Given the description of an element on the screen output the (x, y) to click on. 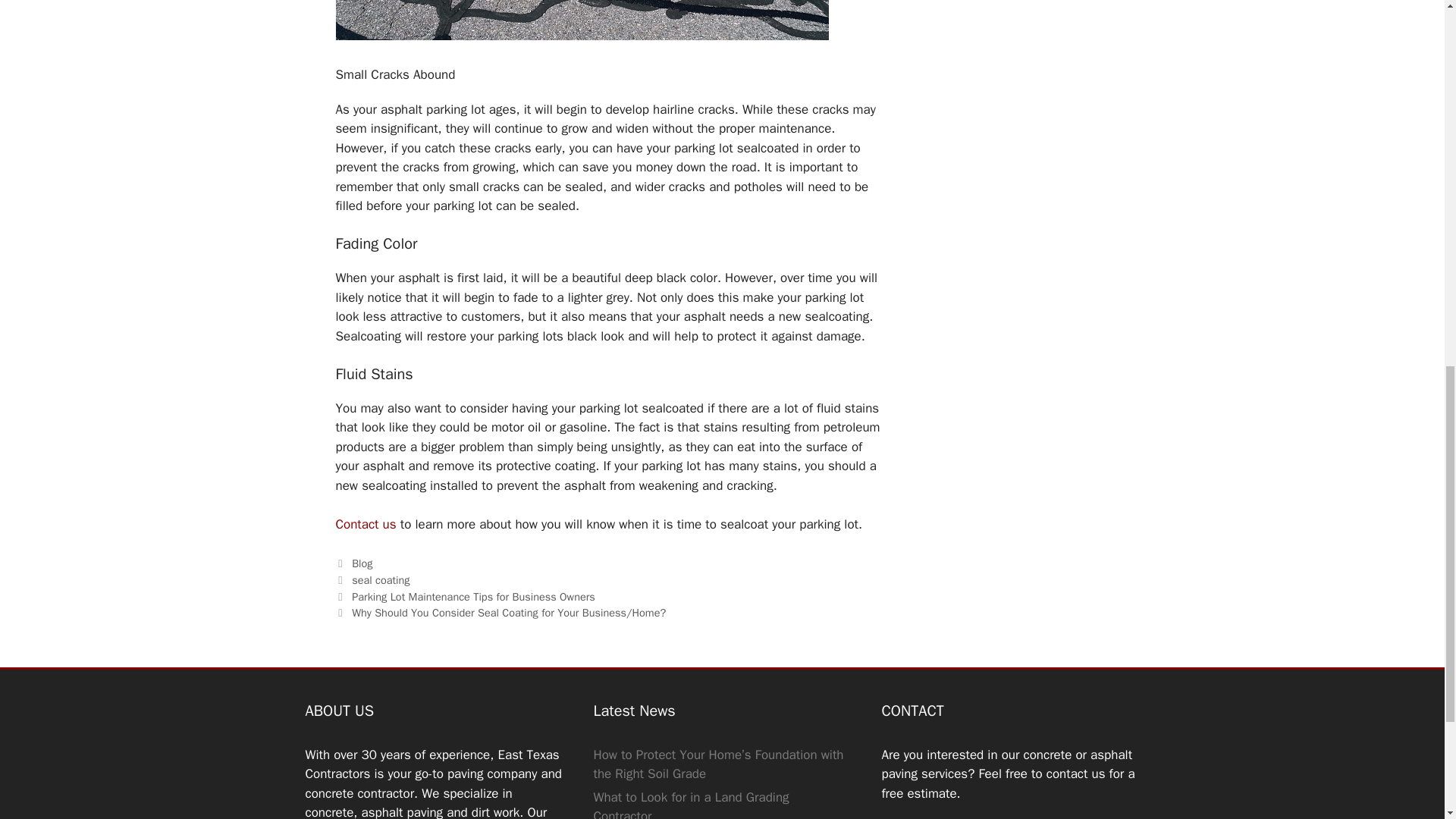
seal coating (380, 580)
What to Look for in a Land Grading Contractor (690, 804)
Previous (464, 596)
Contact us (365, 524)
Parking Lot Maintenance Tips for Business Owners (473, 596)
Blog (362, 563)
Next (499, 612)
